Given the description of an element on the screen output the (x, y) to click on. 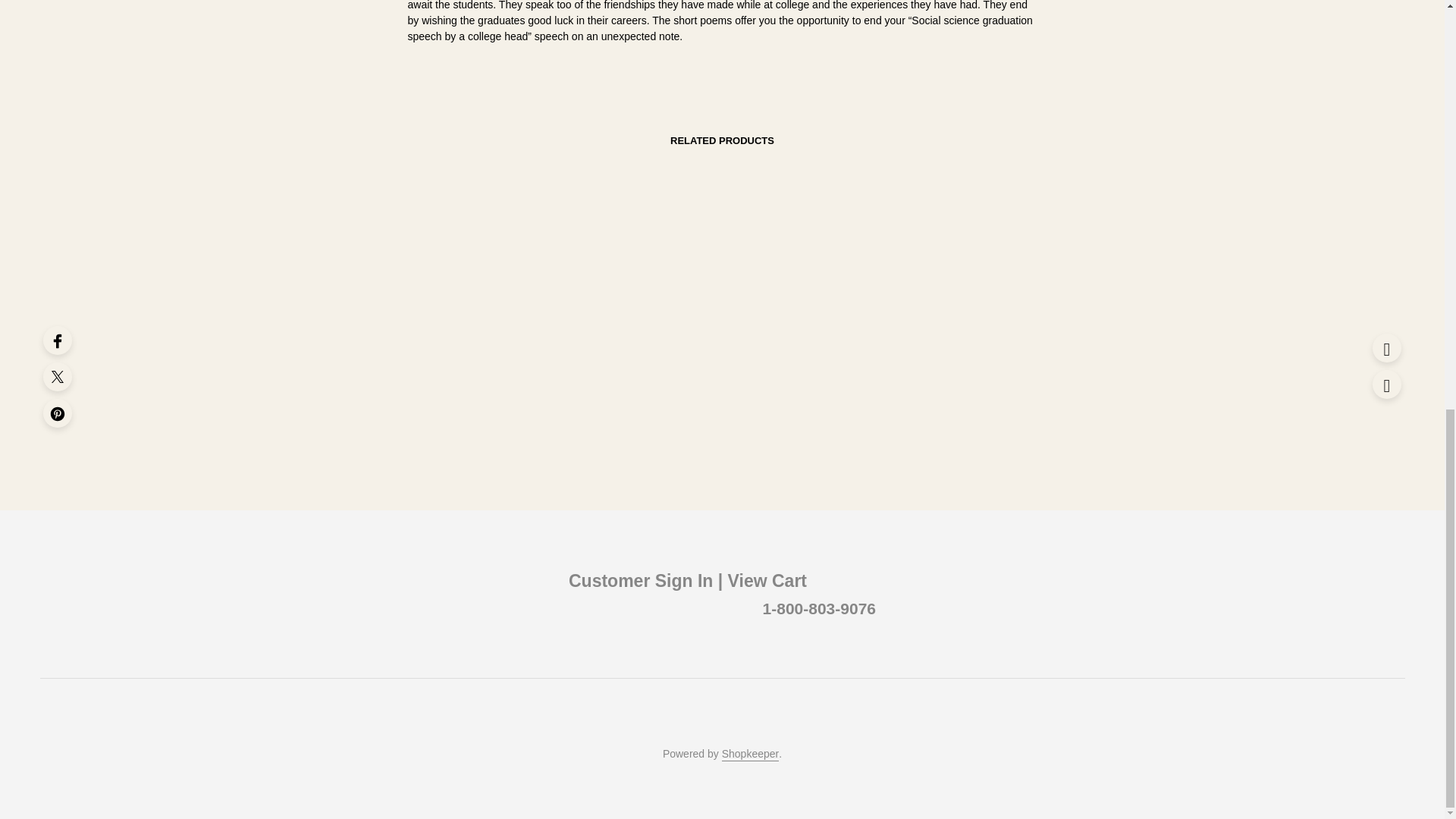
eCommerce WordPress Theme for Woocommerce (750, 754)
